Given the description of an element on the screen output the (x, y) to click on. 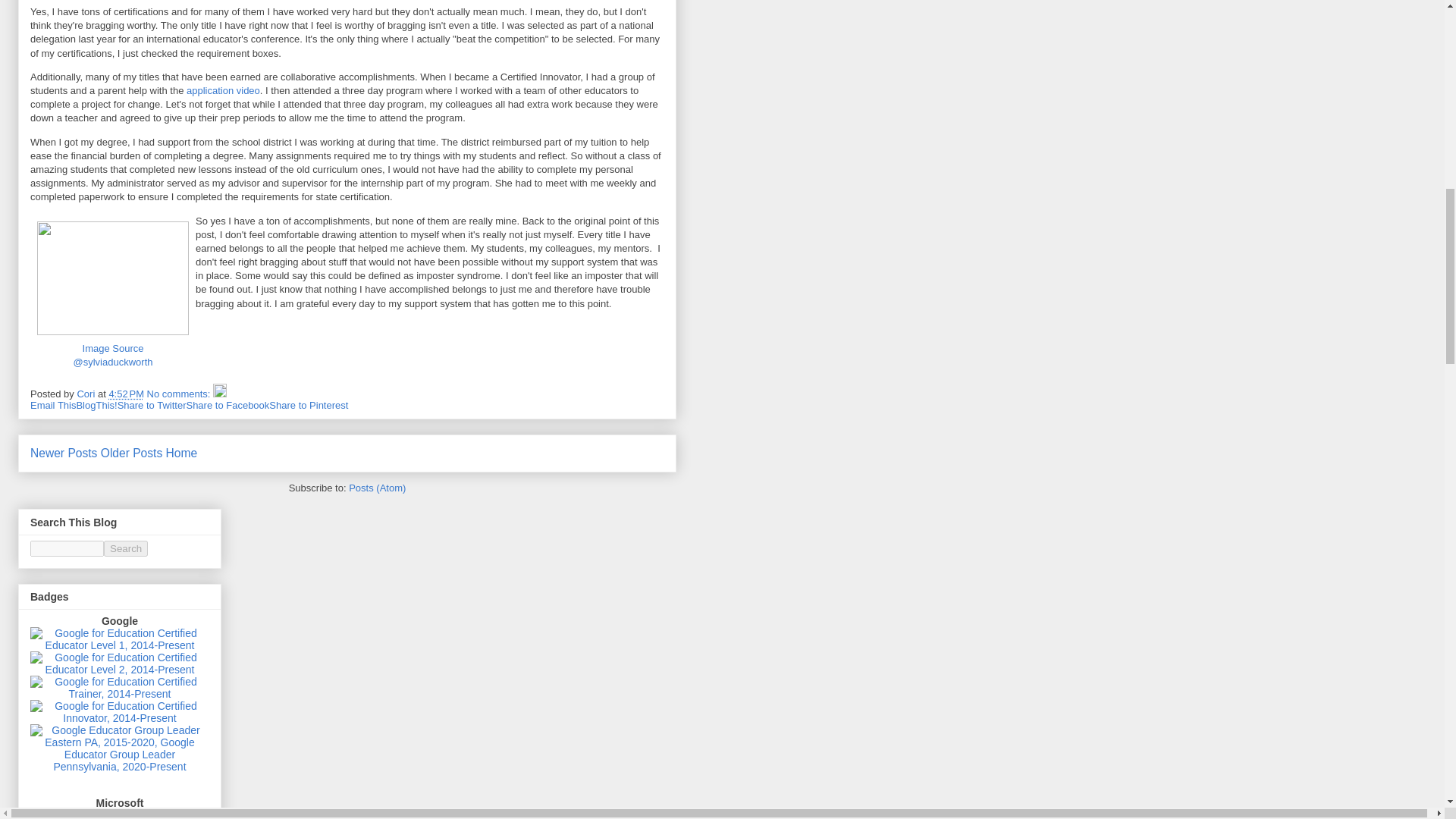
author profile (87, 393)
Share to Facebook (227, 405)
BlogThis! (95, 405)
Search (125, 548)
Search (125, 548)
Edit Post (219, 393)
Share to Facebook (227, 405)
Share to Pinterest (308, 405)
No comments: (179, 393)
Search (125, 548)
permanent link (125, 393)
Newer Posts (63, 452)
Email This (52, 405)
application video (223, 90)
